Given the description of an element on the screen output the (x, y) to click on. 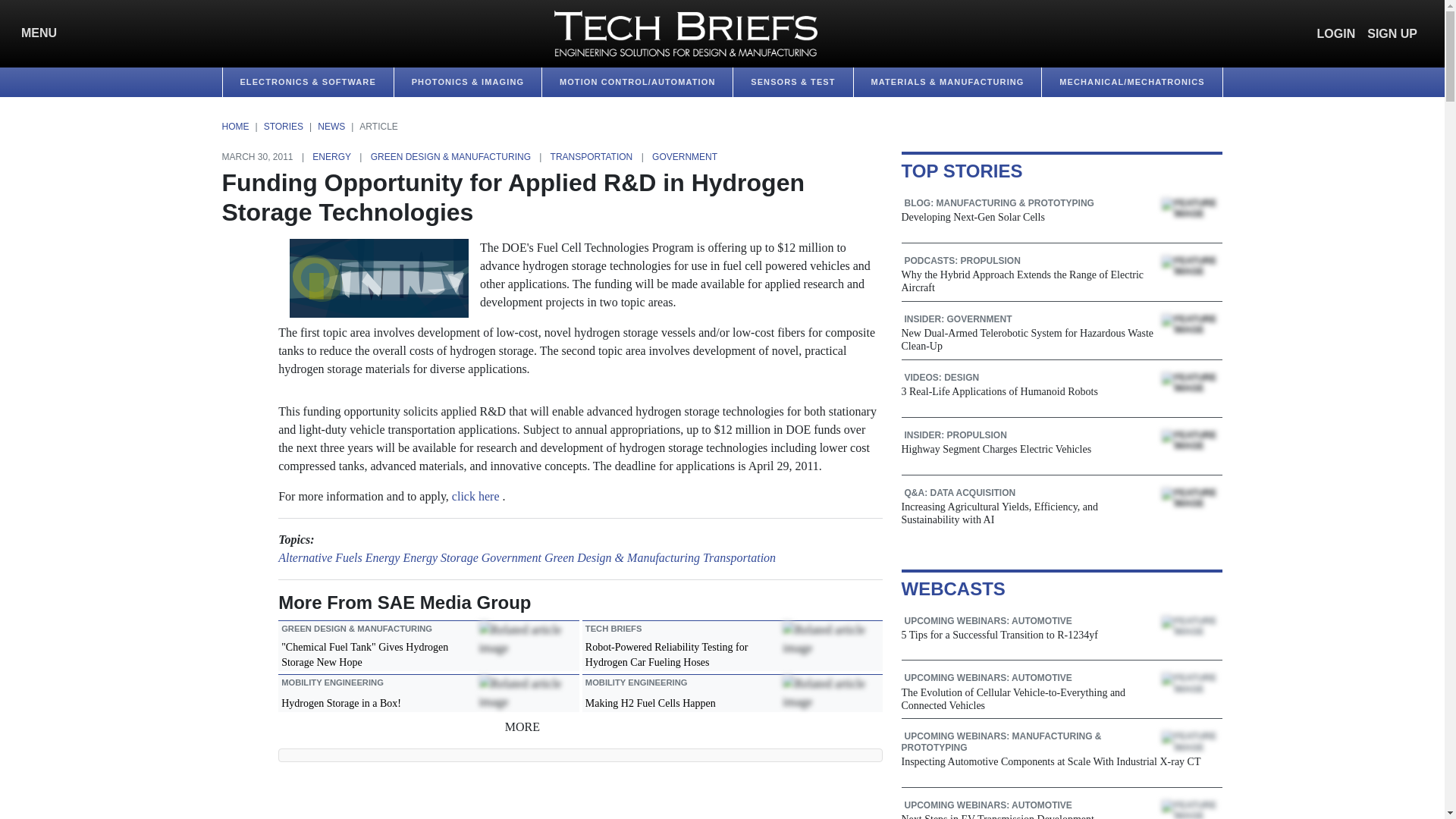
LOGIN (1336, 32)
MENU (35, 33)
SIGN UP (1392, 32)
